Given the description of an element on the screen output the (x, y) to click on. 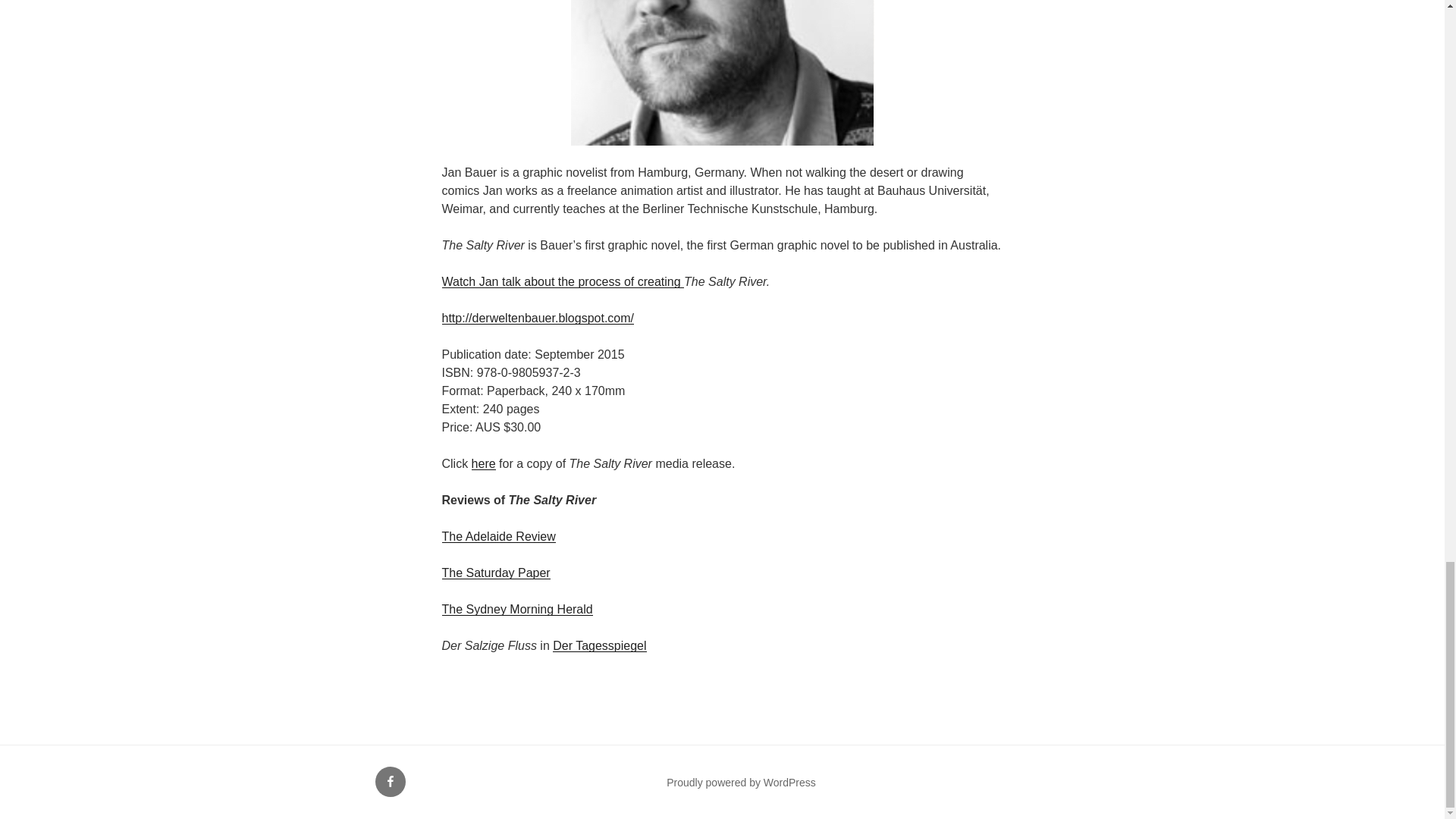
Proudly powered by WordPress (740, 782)
The Saturday Paper (495, 572)
The Adelaide Review (497, 535)
Watch Jan talk about the process of creating (562, 281)
Der Tagesspiegel (599, 645)
Find us on Facebook (389, 781)
The Sydney Morning Herald (516, 608)
here (483, 463)
